Given the description of an element on the screen output the (x, y) to click on. 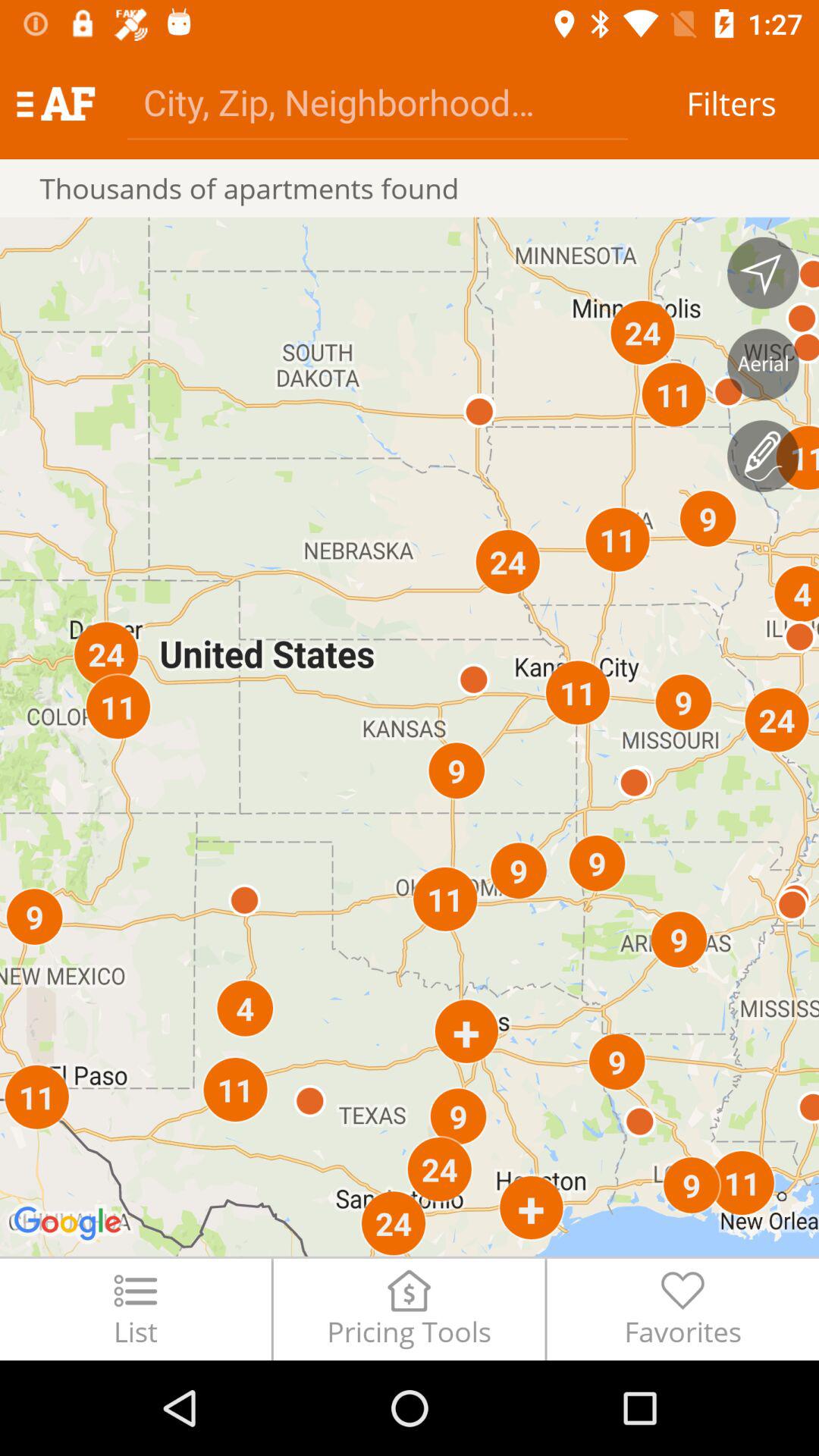
turn off icon next to list item (408, 1309)
